Given the description of an element on the screen output the (x, y) to click on. 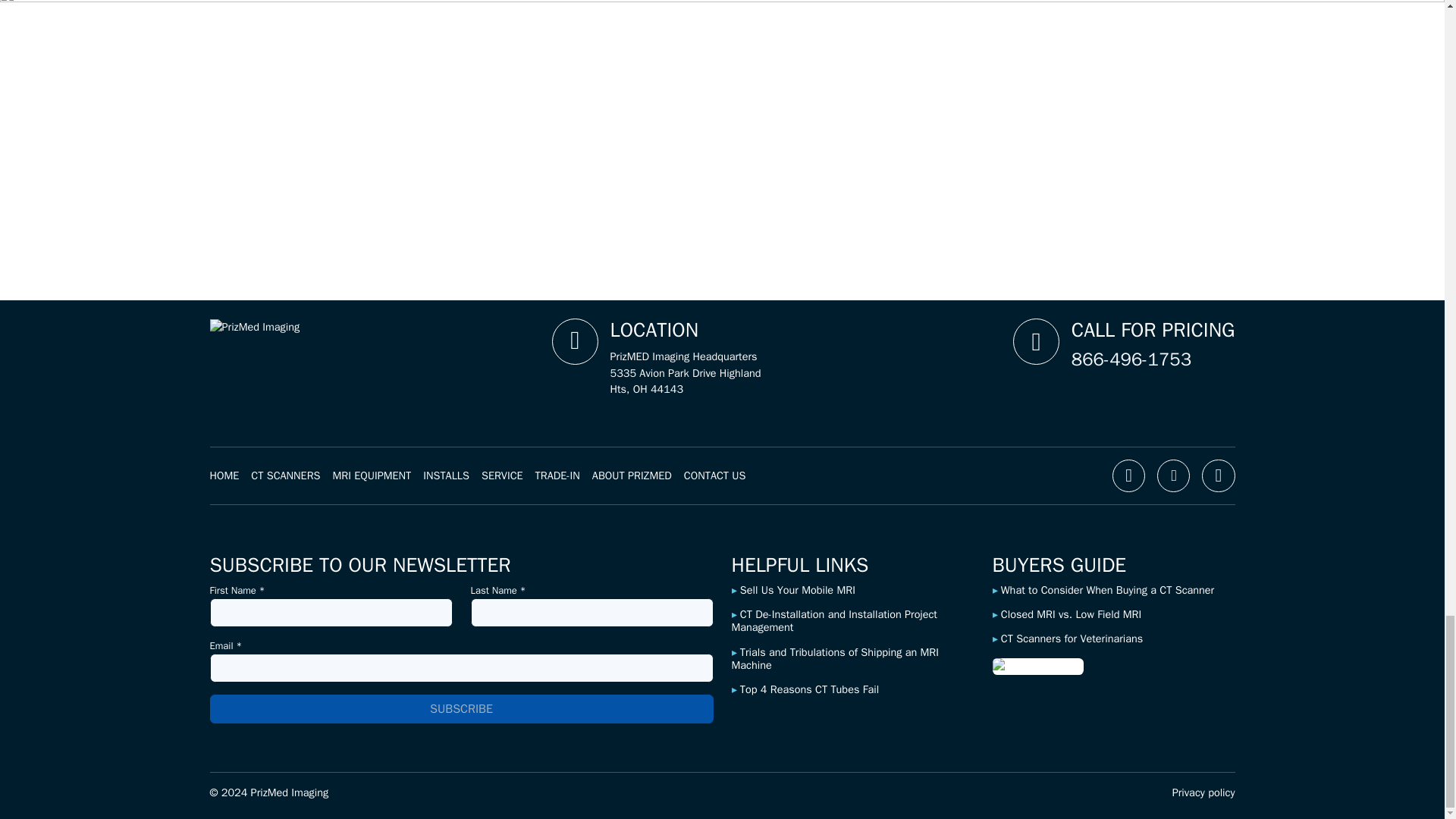
Subscribe (461, 708)
